Given the description of an element on the screen output the (x, y) to click on. 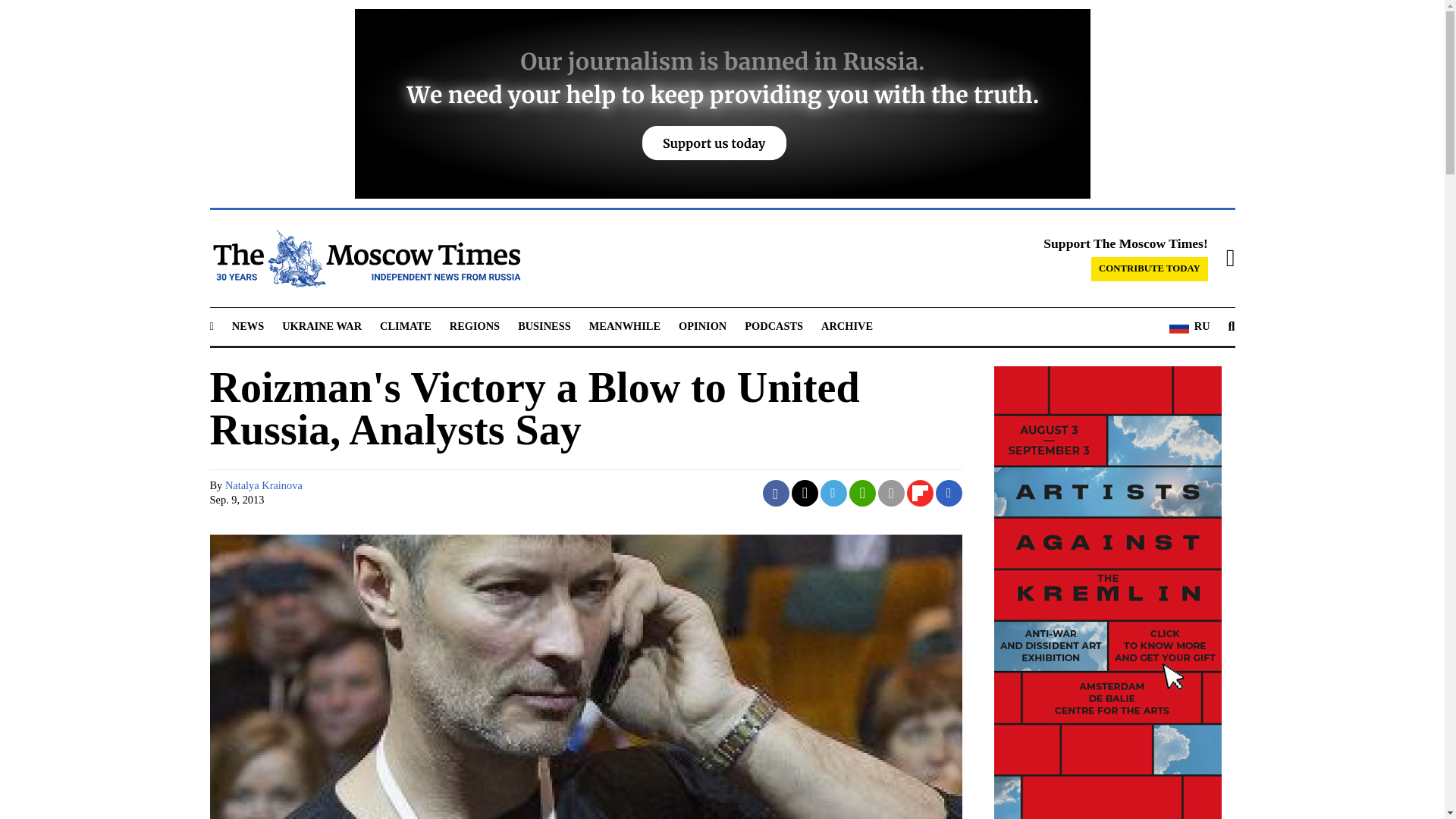
UKRAINE WAR (321, 326)
ARCHIVE (846, 326)
RU (1189, 326)
MEANWHILE (625, 326)
OPINION (702, 326)
CONTRIBUTE TODAY (1149, 269)
NEWS (247, 326)
The Moscow Times - Independent News from Russia (364, 258)
Share on Telegram (834, 492)
Share on Facebook (775, 492)
